Given the description of an element on the screen output the (x, y) to click on. 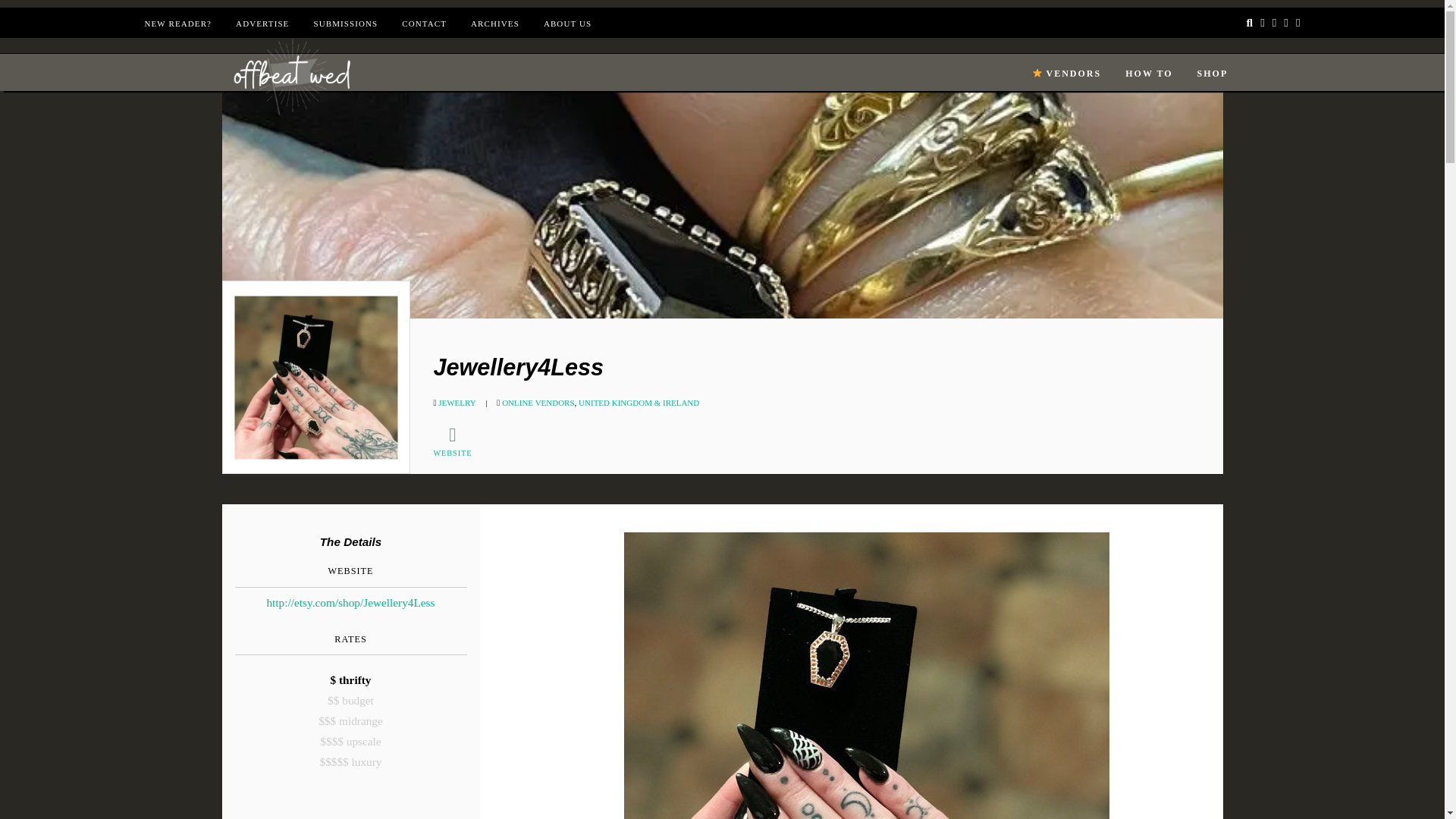
SUBMISSIONS (345, 22)
ADVERTISE (261, 22)
ABOUT US (567, 22)
ONLINE VENDORS (537, 402)
CONTACT (423, 22)
WEBSITE (459, 442)
JEWELRY (457, 402)
NEW READER? (177, 22)
HOW TO (1148, 73)
ARCHIVES (494, 22)
VENDORS (1066, 73)
